Given the description of an element on the screen output the (x, y) to click on. 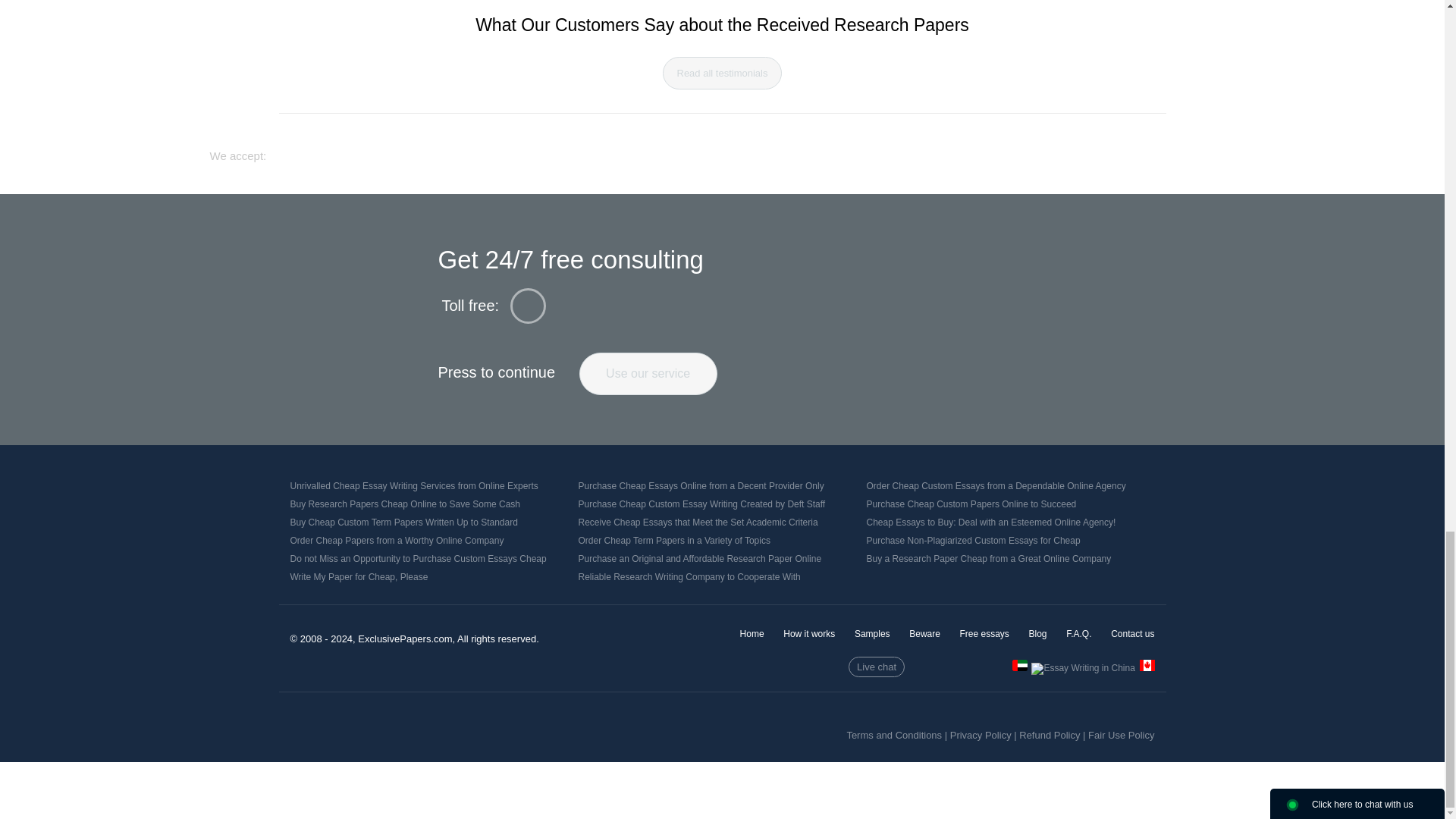
Credit and debit cards by MasterCard (695, 149)
Credit and debit cards by Visa (607, 149)
Use our service (648, 373)
Order Cheap Custom Essays from a Dependable Online Agency (995, 485)
Essay Writing in United Arab Emirates (1019, 665)
Essay Writing in USA (1146, 665)
Read all testimonials (722, 72)
Essay Writing in USA (1146, 667)
Essay Writing in United Arab Emirates (1019, 667)
Apple pay (842, 149)
